Given the description of an element on the screen output the (x, y) to click on. 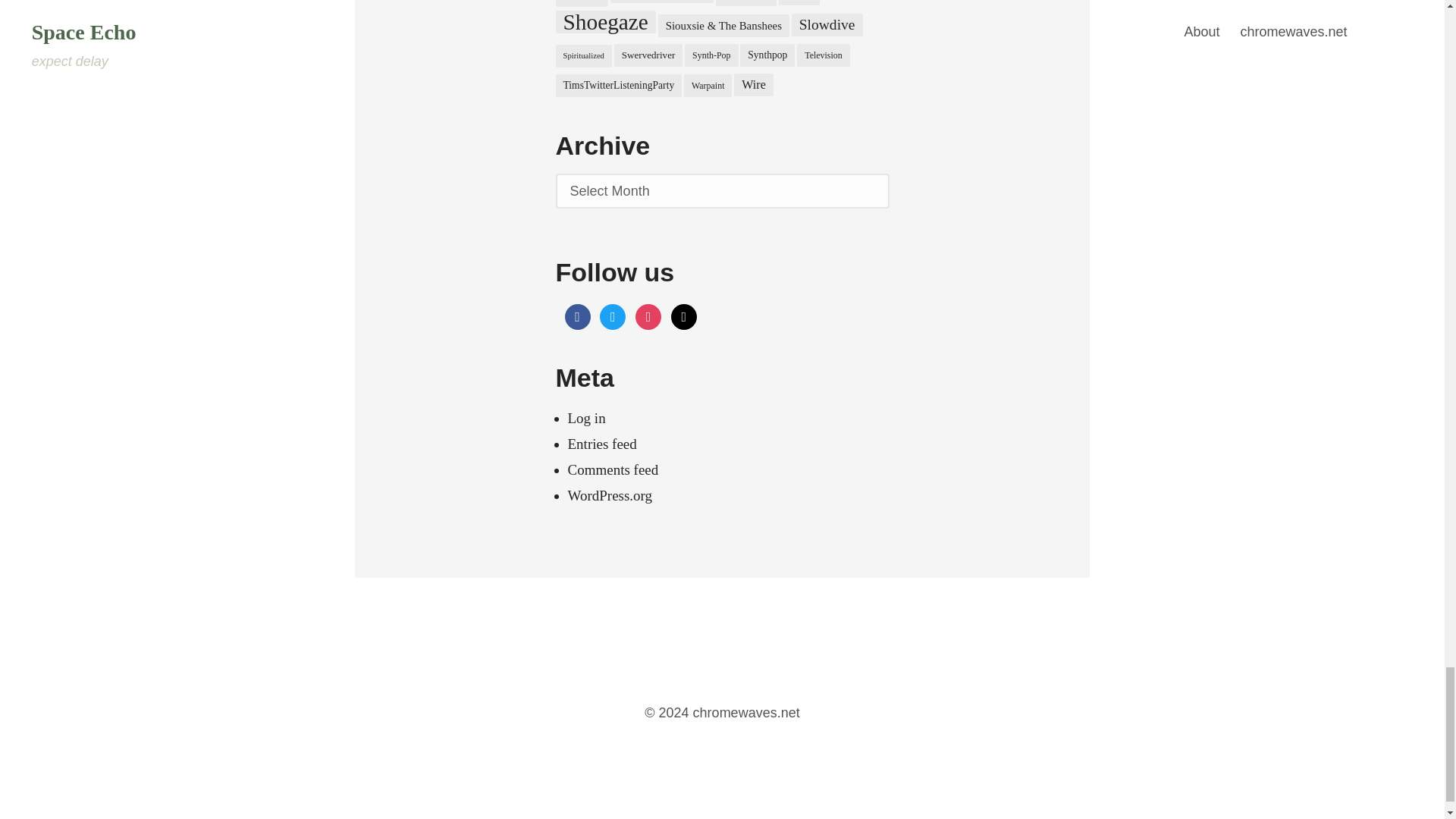
Twitter (612, 315)
Default Label (684, 315)
Instagram (647, 315)
Facebook (576, 315)
